Given the description of an element on the screen output the (x, y) to click on. 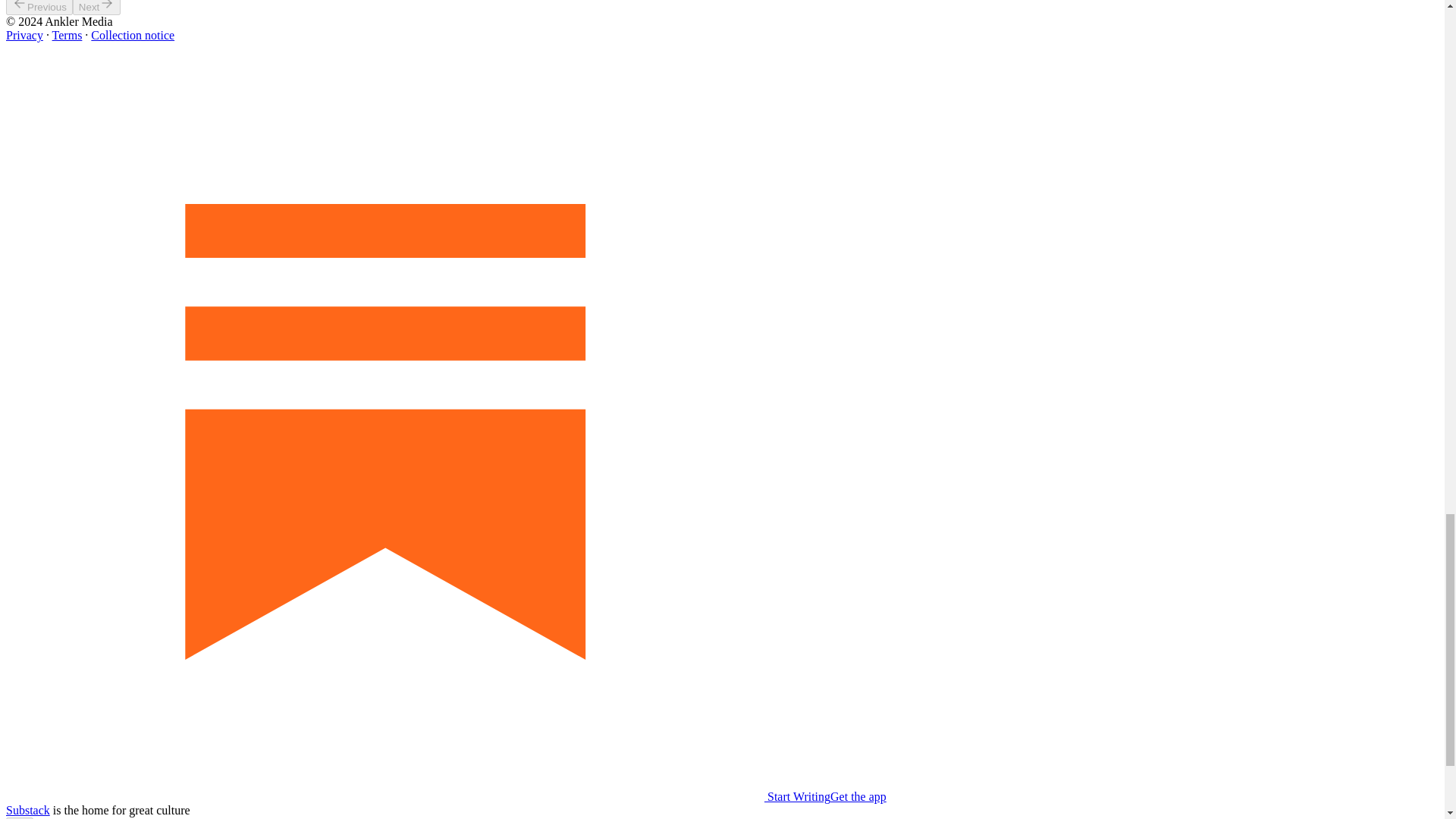
Start Writing (417, 796)
Previous (38, 7)
Next (96, 7)
Collection notice (132, 34)
Privacy (24, 34)
Get the app (857, 796)
Substack (27, 809)
Terms (67, 34)
